Given the description of an element on the screen output the (x, y) to click on. 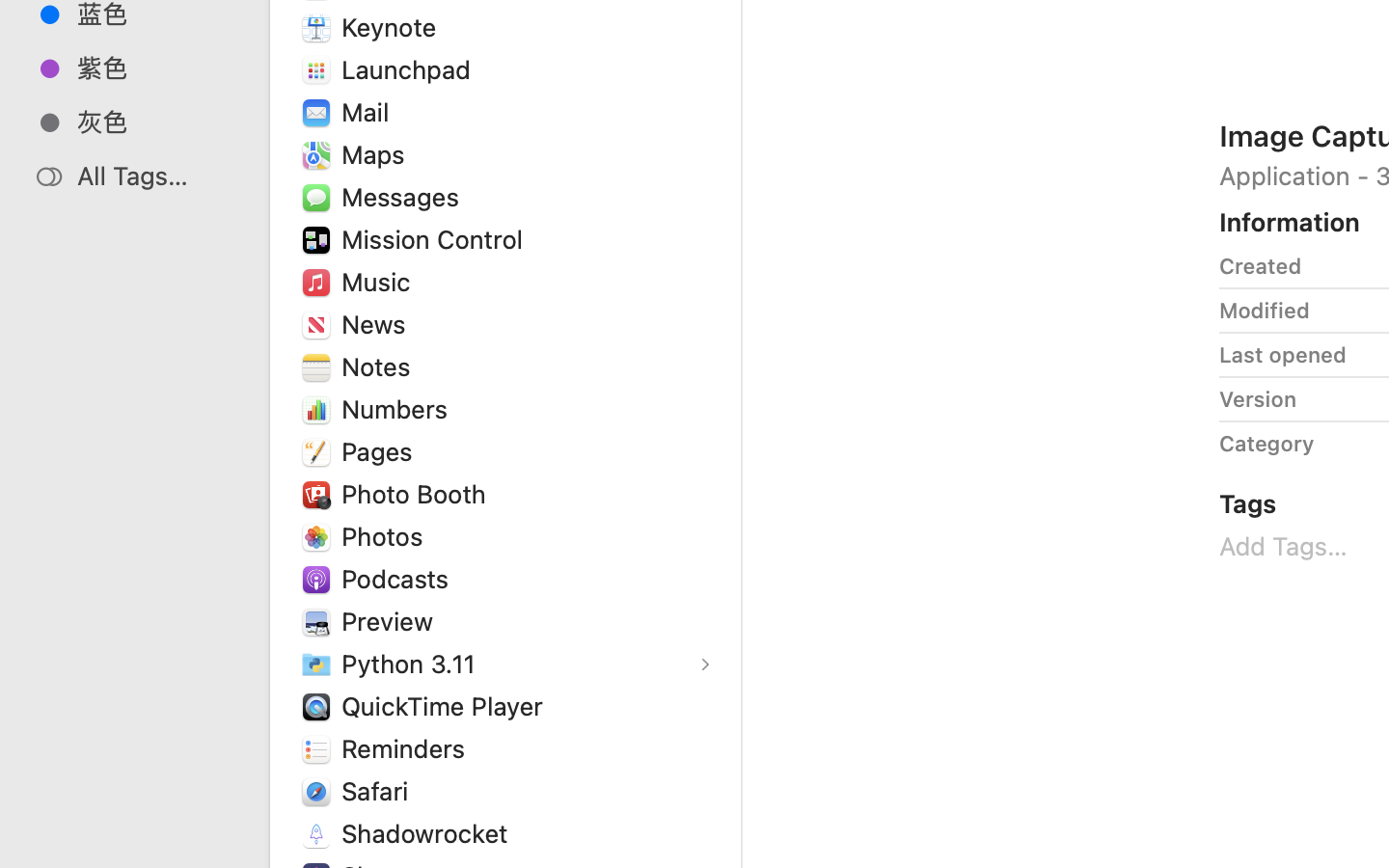
Notes Element type: AXTextField (379, 366)
News Element type: AXTextField (377, 323)
Information Element type: AXStaticText (1289, 221)
Version Element type: AXStaticText (1257, 398)
Keynote Element type: AXTextField (393, 26)
